Given the description of an element on the screen output the (x, y) to click on. 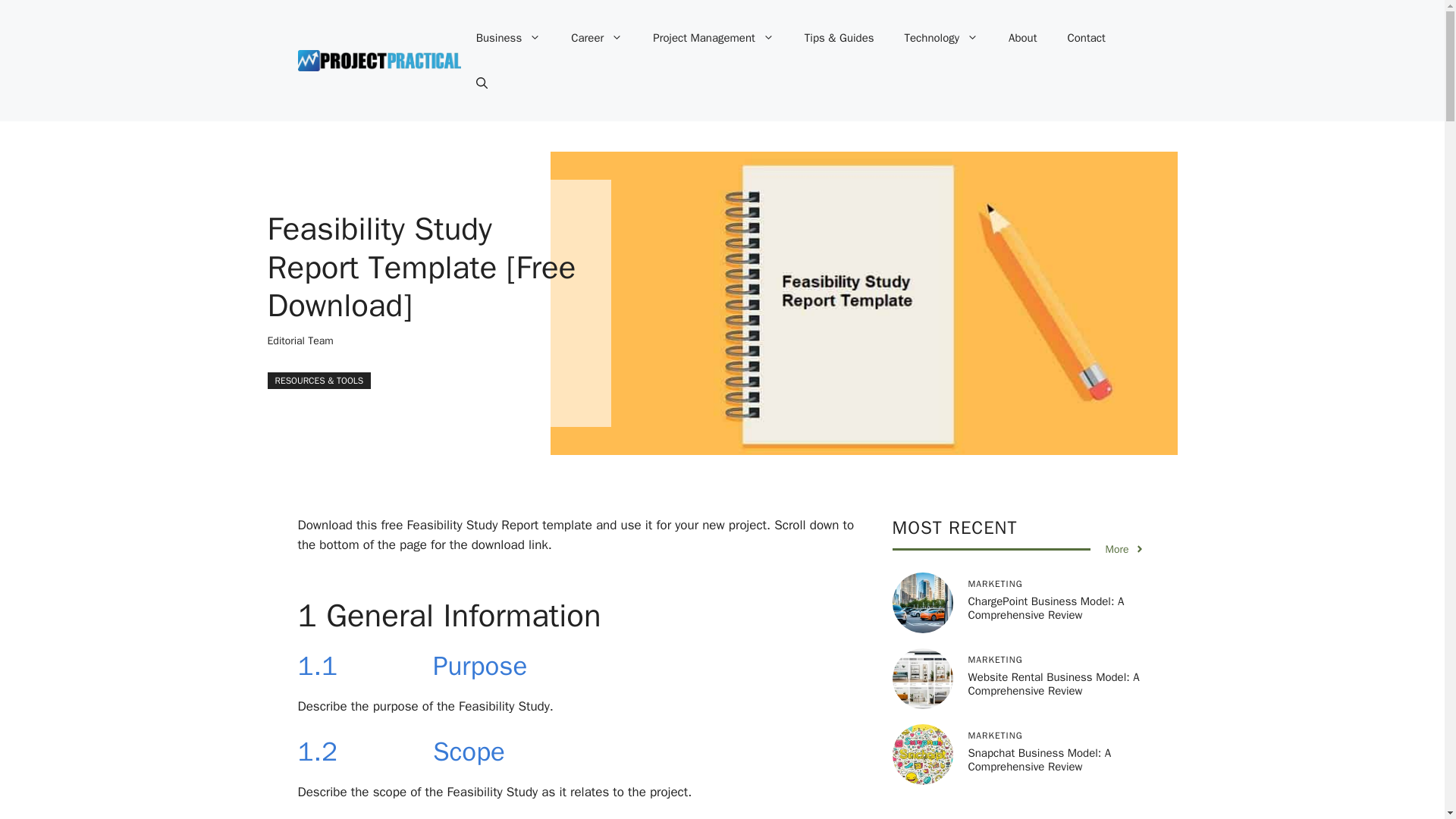
Business (508, 37)
Career (596, 37)
1.2            Scope (400, 751)
Contact (1086, 37)
Project Management (713, 37)
Technology (941, 37)
About (1021, 37)
1.1            Purpose (412, 665)
